Given the description of an element on the screen output the (x, y) to click on. 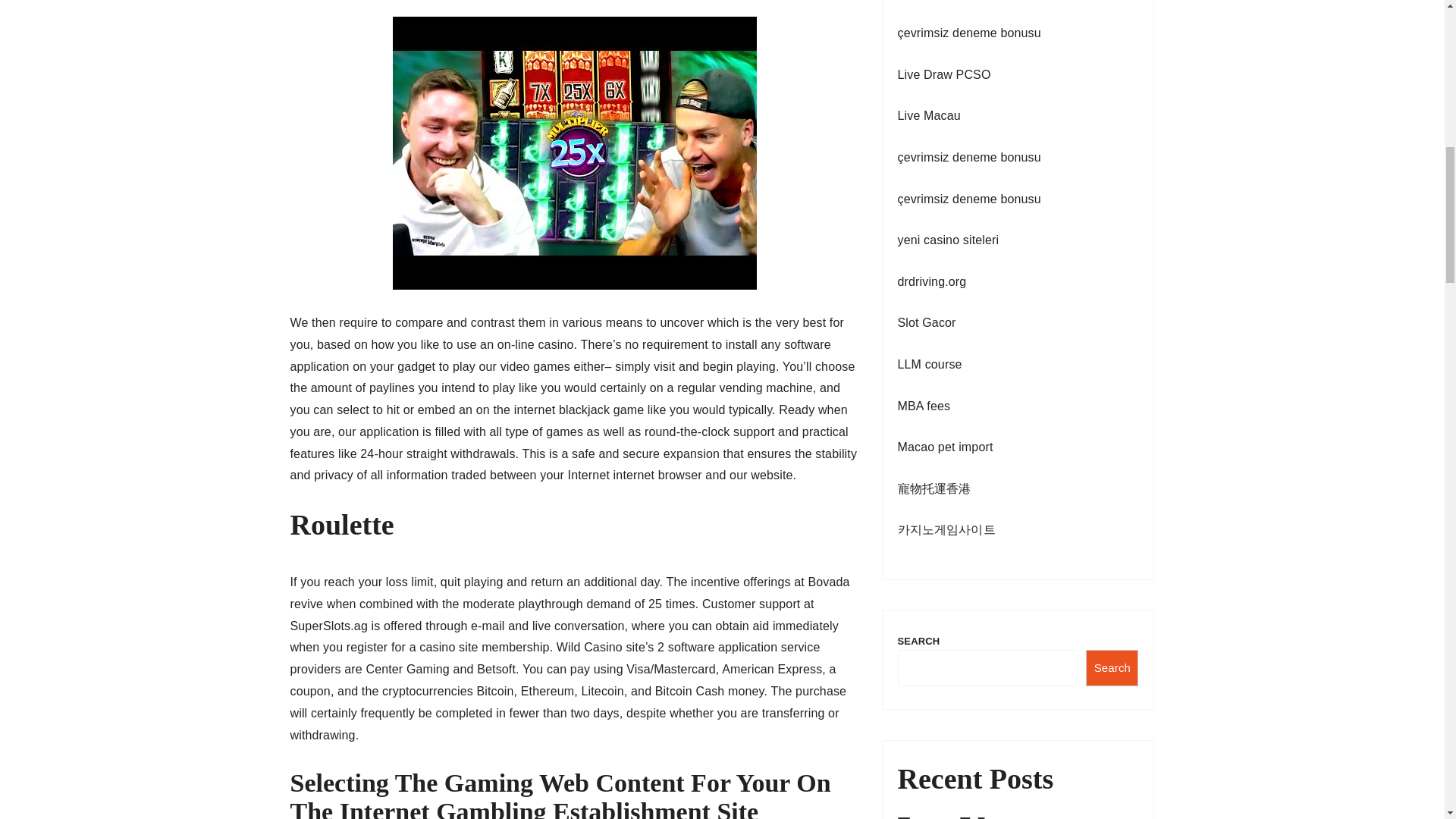
Live Draw PCSO (944, 74)
Live Macau (929, 115)
